Given the description of an element on the screen output the (x, y) to click on. 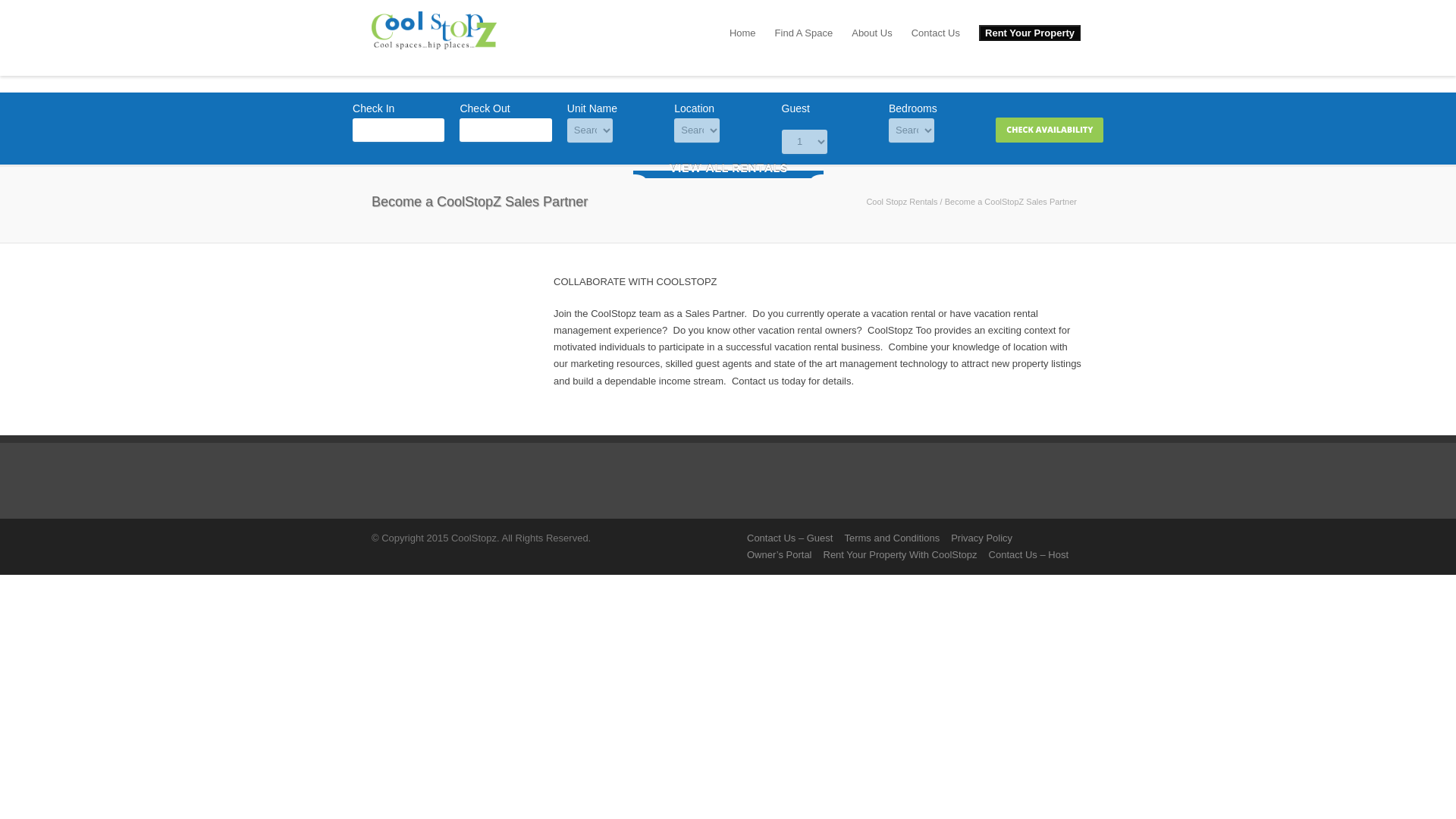
Find A Space (804, 33)
Rent Your Property (1029, 32)
Rent Your Property (1029, 33)
Privacy Policy (980, 537)
Terms and Conditions (891, 537)
Rent Your Property With CoolStopz (900, 554)
Cool Stopz Rentals (901, 201)
